Given the description of an element on the screen output the (x, y) to click on. 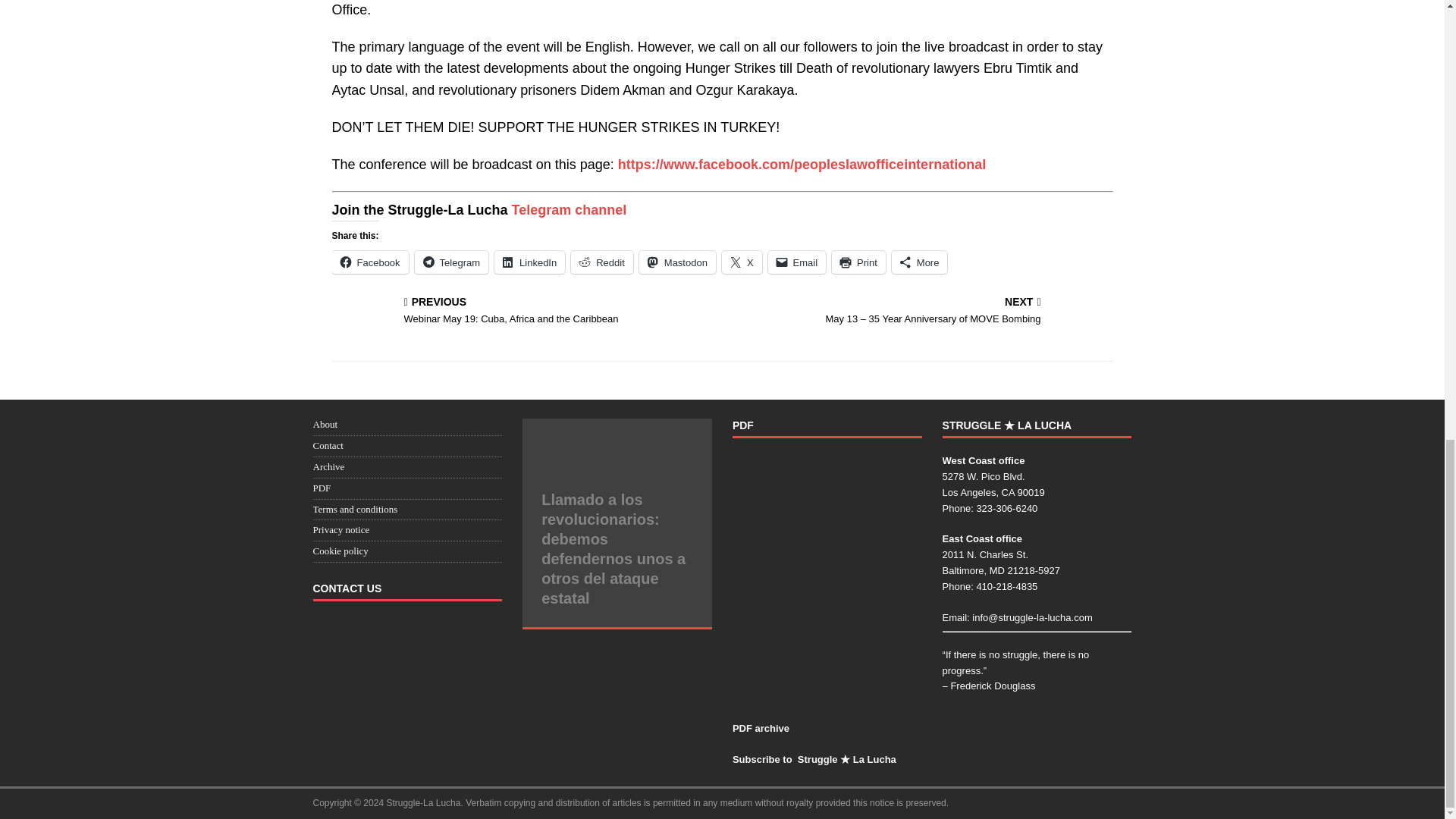
Click to share on Reddit (601, 261)
About (325, 423)
Click to share on Mastodon (677, 261)
More (522, 311)
Mastodon (919, 261)
Email (677, 261)
Click to print (797, 261)
Click to email a link to a friend (858, 261)
Print (797, 261)
